Given the description of an element on the screen output the (x, y) to click on. 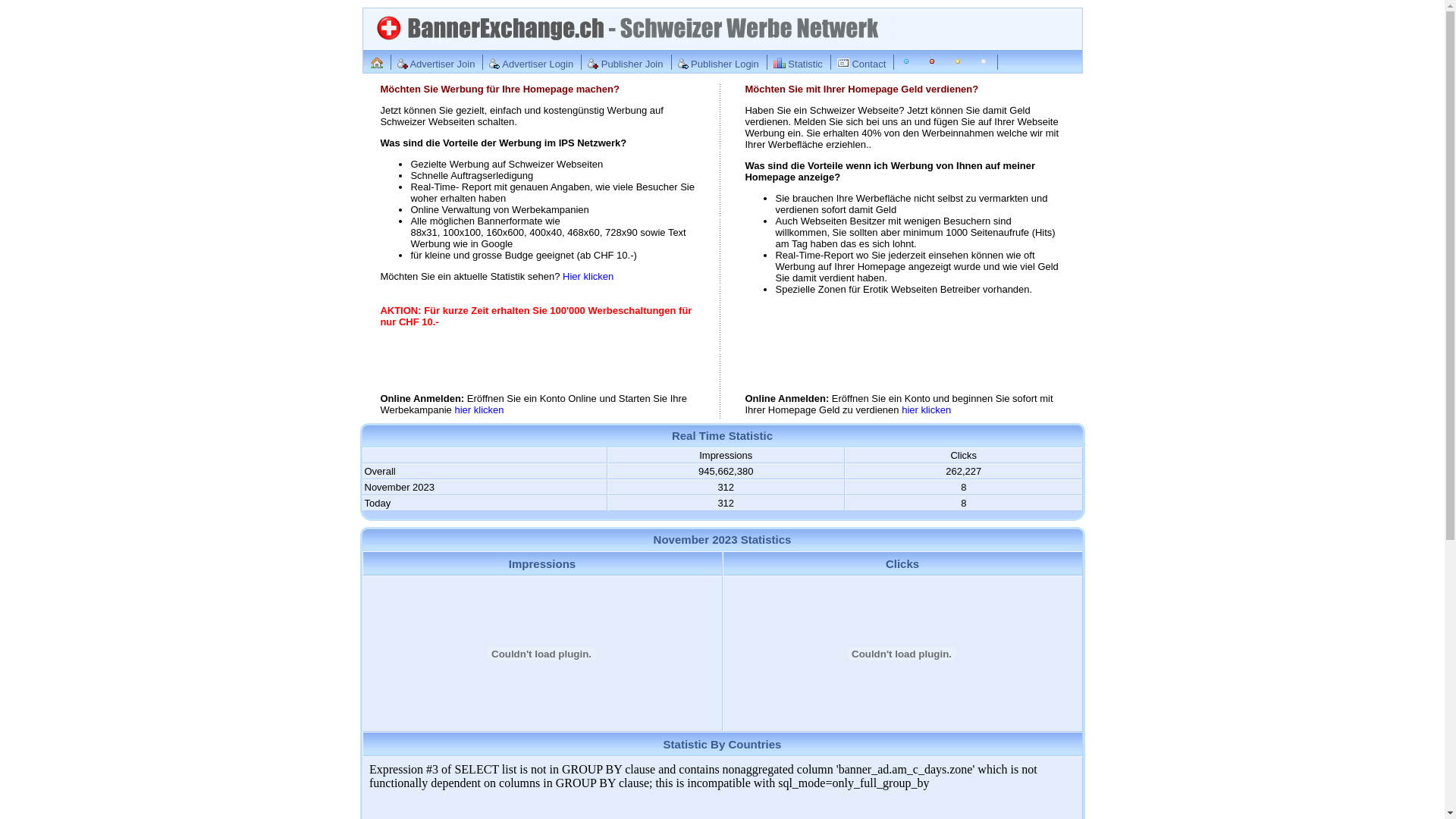
 Statistic Element type: text (798, 64)
 Publisher Join Element type: text (625, 64)
 Advertiser Login Element type: text (531, 64)
Hier klicken Element type: text (587, 276)
 Advertiser Join Element type: text (437, 64)
 Publisher Login Element type: text (718, 64)
 Contact Element type: text (862, 64)
hier klicken Element type: text (925, 409)
hier klicken Element type: text (478, 409)
